Given the description of an element on the screen output the (x, y) to click on. 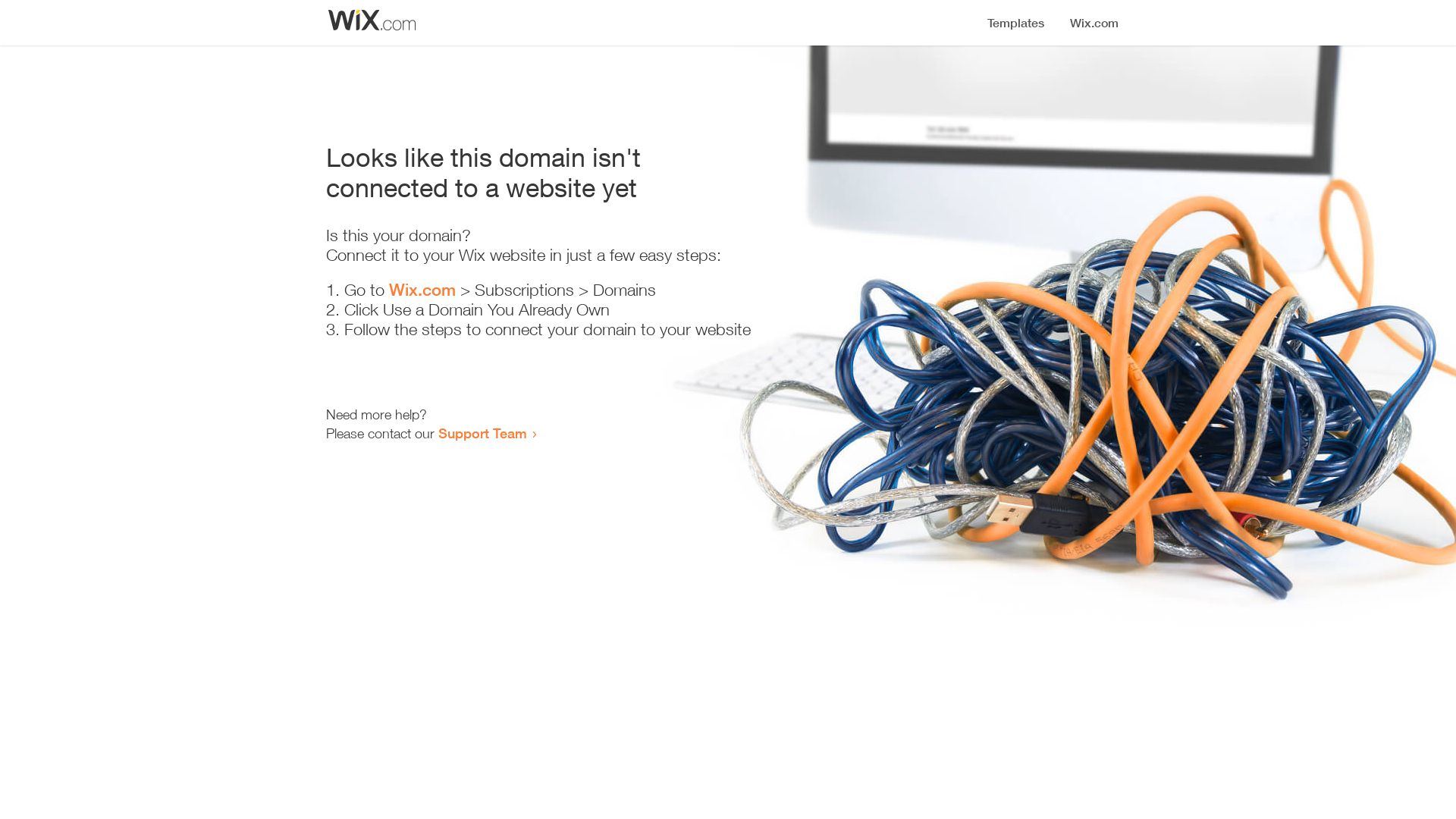
Wix.com Element type: text (422, 289)
Support Team Element type: text (482, 432)
